Given the description of an element on the screen output the (x, y) to click on. 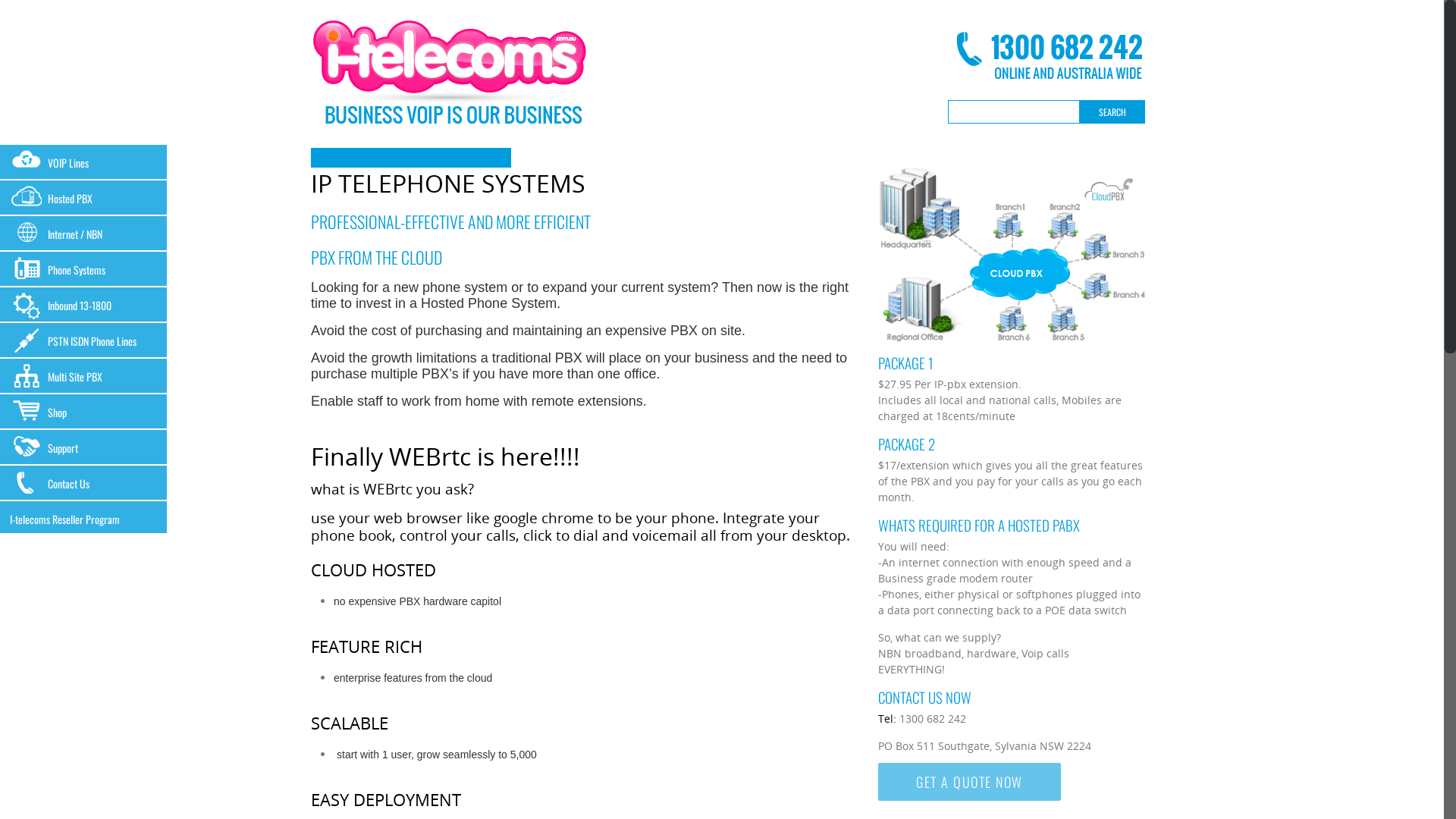
Hosted PBX Element type: text (82, 198)
Multi Site PBX Element type: text (82, 376)
Phone Systems Element type: text (82, 269)
Support Element type: text (82, 447)
VOIP Lines Element type: text (82, 162)
Contact Us Element type: text (82, 483)
Internet / NBN Element type: text (82, 233)
PSTN ISDN Phone Lines Element type: text (82, 340)
GET A QUOTE NOW Element type: text (969, 781)
Search Element type: text (1112, 111)
Shop Element type: text (82, 412)
I-telecoms Reseller Program Element type: text (82, 519)
Inbound 13-1800 Element type: text (82, 305)
